Given the description of an element on the screen output the (x, y) to click on. 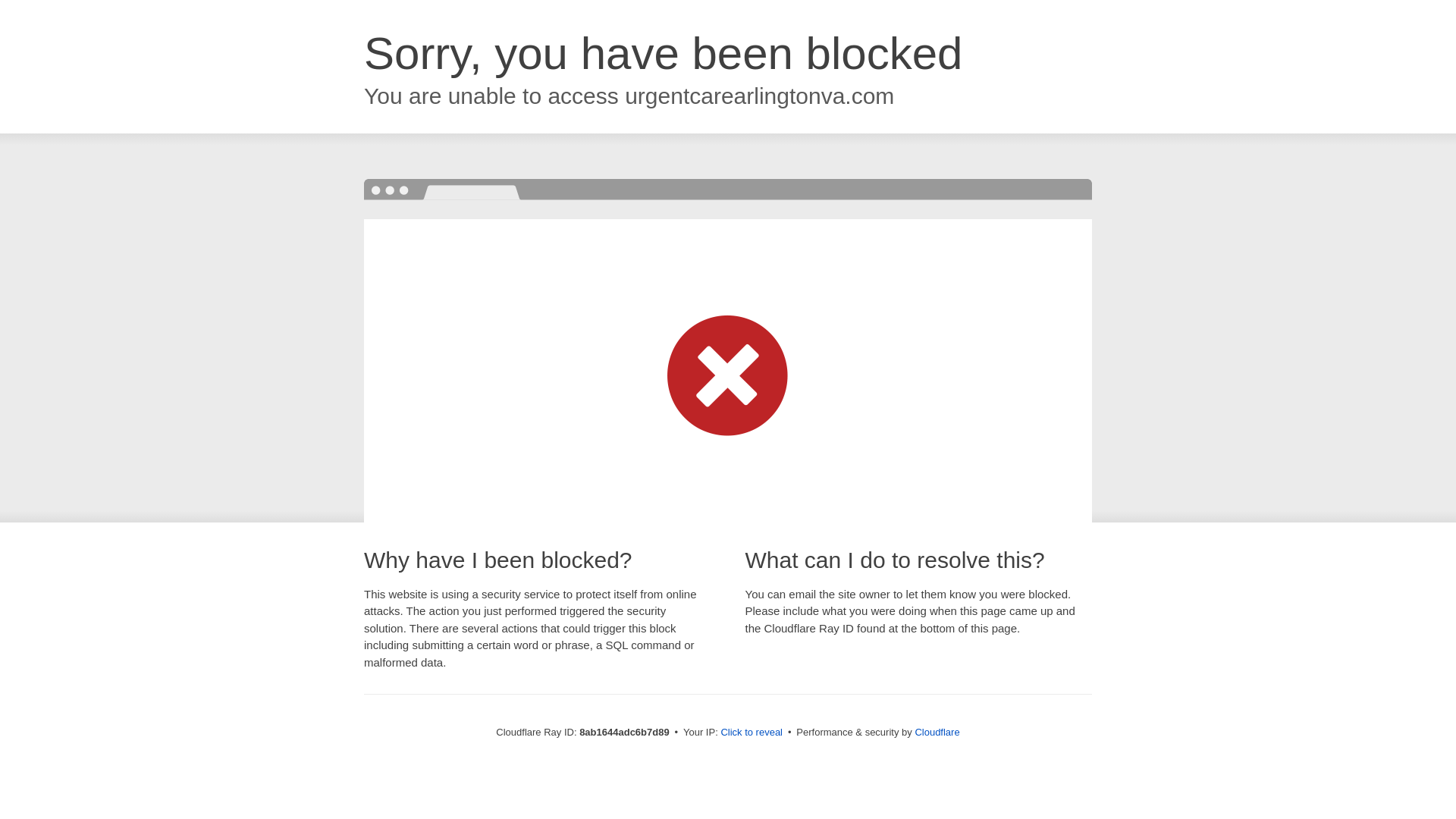
Click to reveal (751, 732)
Cloudflare (936, 731)
